Given the description of an element on the screen output the (x, y) to click on. 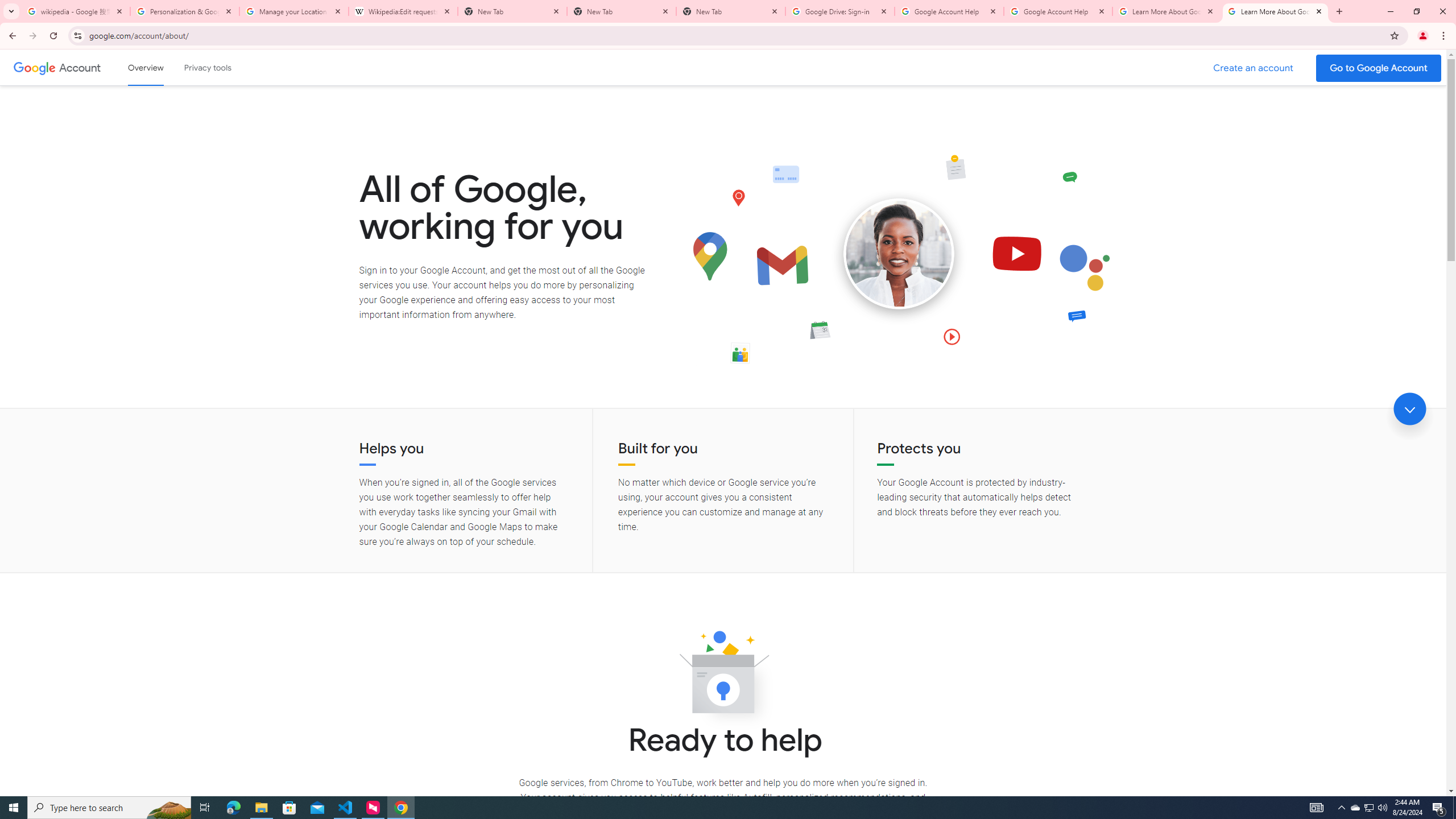
Google Account (80, 67)
Google Account Help (1058, 11)
Personalization & Google Search results - Google Search Help (184, 11)
Ready to help (722, 675)
New Tab (730, 11)
Wikipedia:Edit requests - Wikipedia (403, 11)
